Given the description of an element on the screen output the (x, y) to click on. 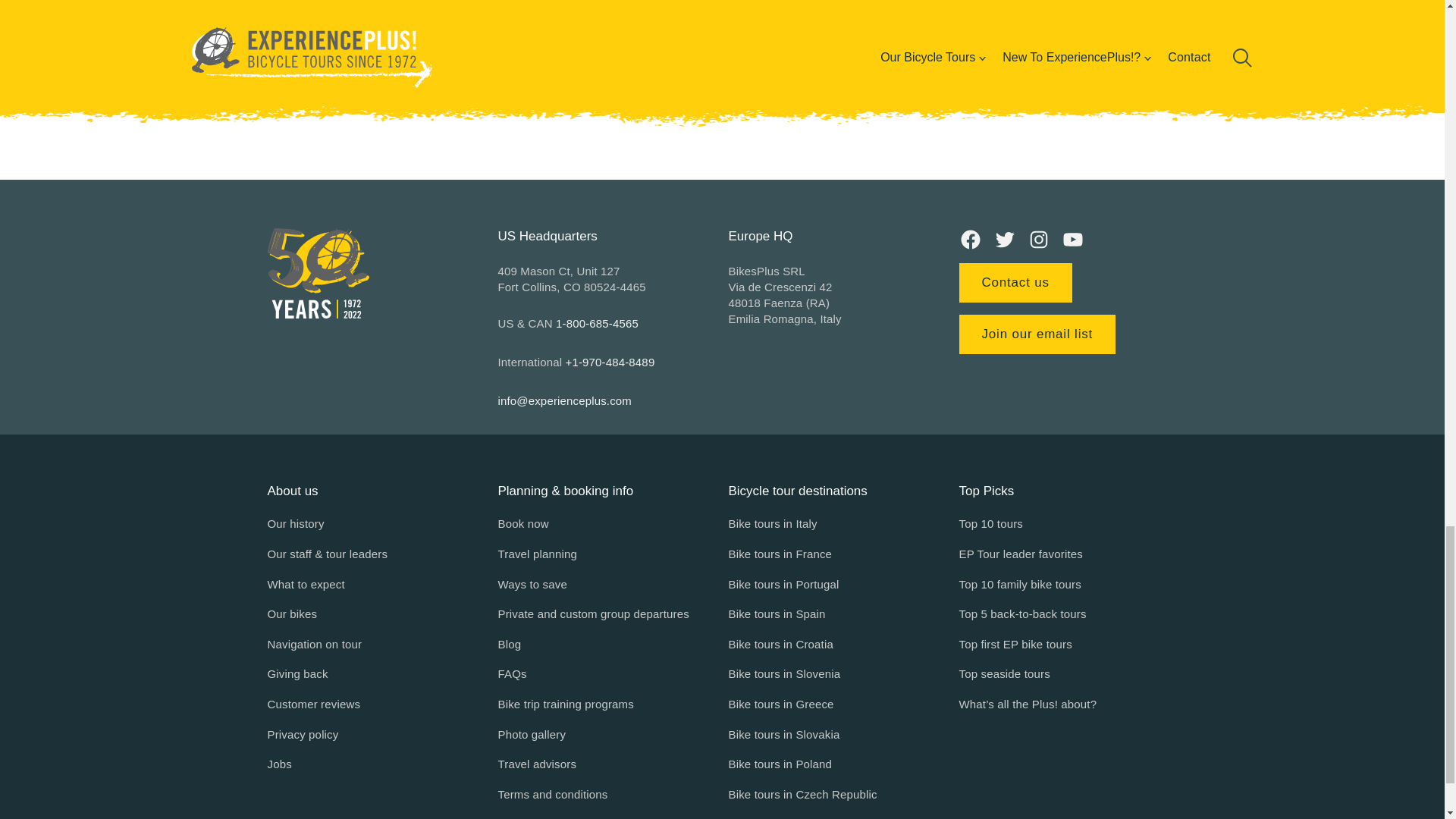
Twitter (1004, 239)
Instagram (1037, 239)
Contact us (1014, 282)
Join our email list (1036, 333)
YouTube (1072, 239)
Facebook (969, 239)
1-800-685-4565 (597, 323)
